Given the description of an element on the screen output the (x, y) to click on. 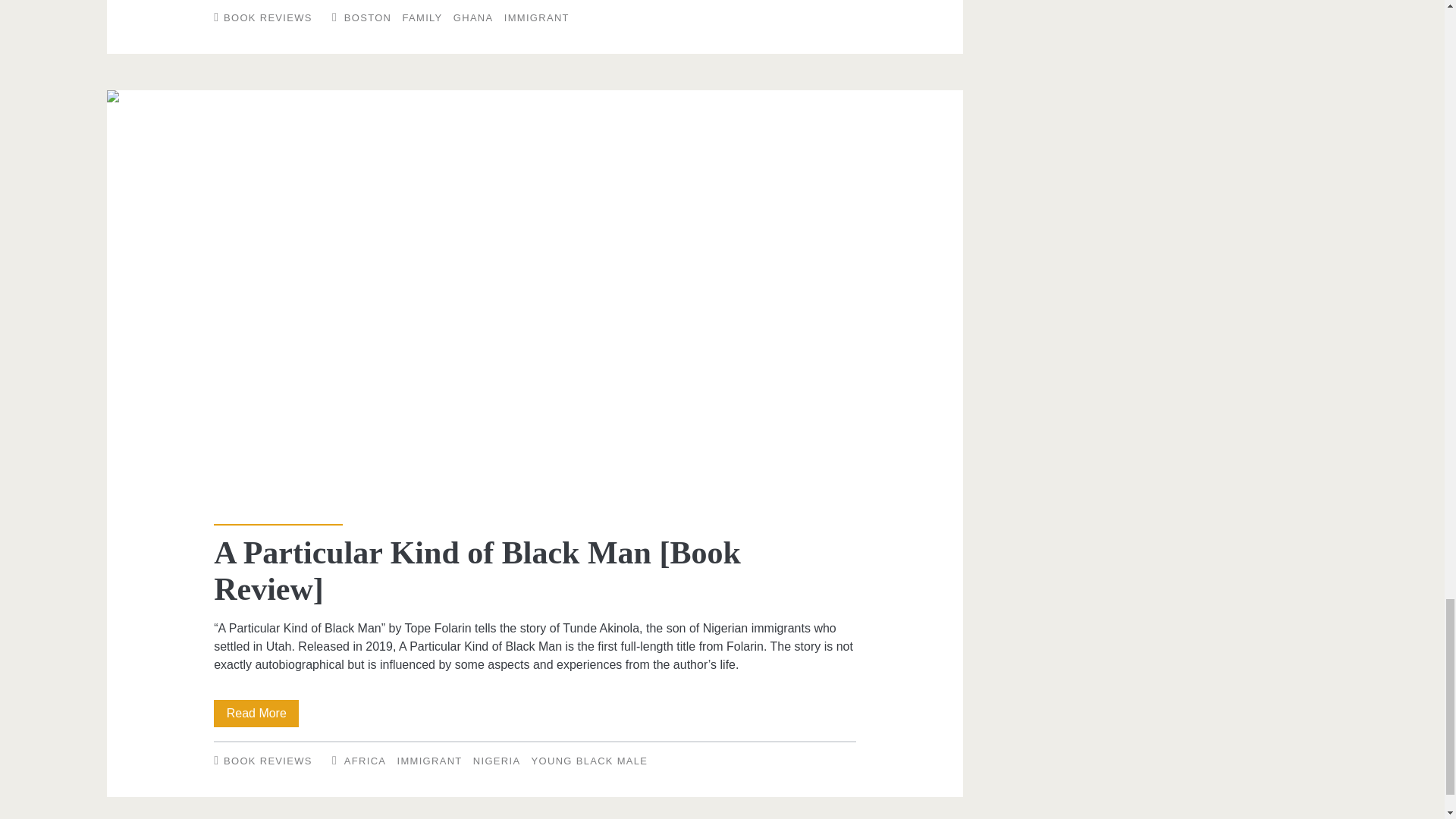
FAMILY (421, 17)
GHANA (472, 17)
IMMIGRANT (536, 17)
BOSTON (367, 17)
BOOK REVIEWS (268, 17)
